Given the description of an element on the screen output the (x, y) to click on. 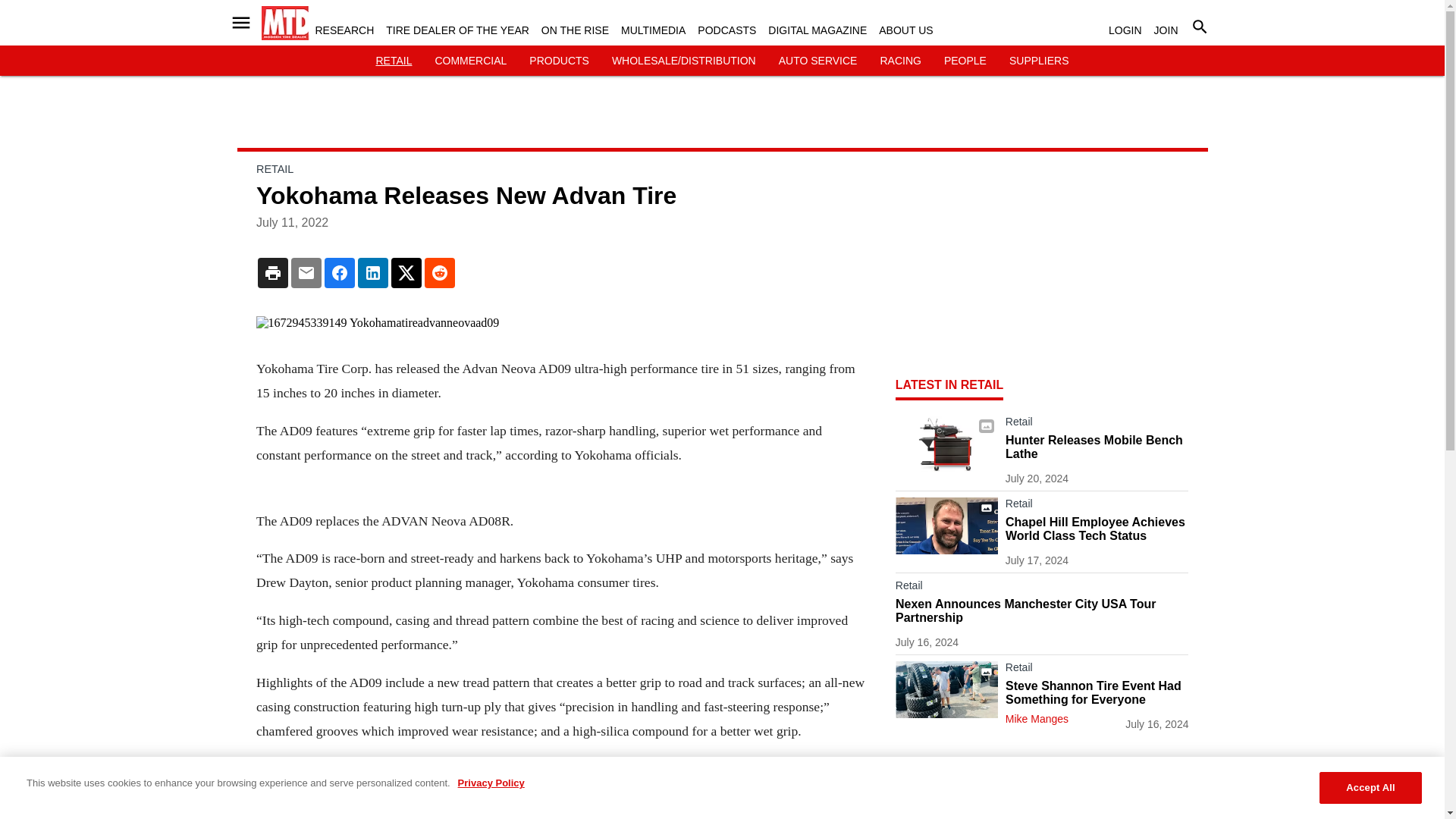
RETAIL (393, 60)
1672945339149 Yokohamatireadvanneovaad09 (560, 323)
RESEARCH (344, 30)
COMMERCIAL (469, 60)
ABOUT US (906, 30)
PRODUCTS (559, 60)
JOIN (1165, 30)
MULTIMEDIA (653, 30)
RACING (899, 60)
AUTO SERVICE (817, 60)
SUPPLIERS (1038, 60)
PODCASTS (726, 30)
DIGITAL MAGAZINE (817, 30)
LOGIN (1124, 30)
TIRE DEALER OF THE YEAR (457, 30)
